Given the description of an element on the screen output the (x, y) to click on. 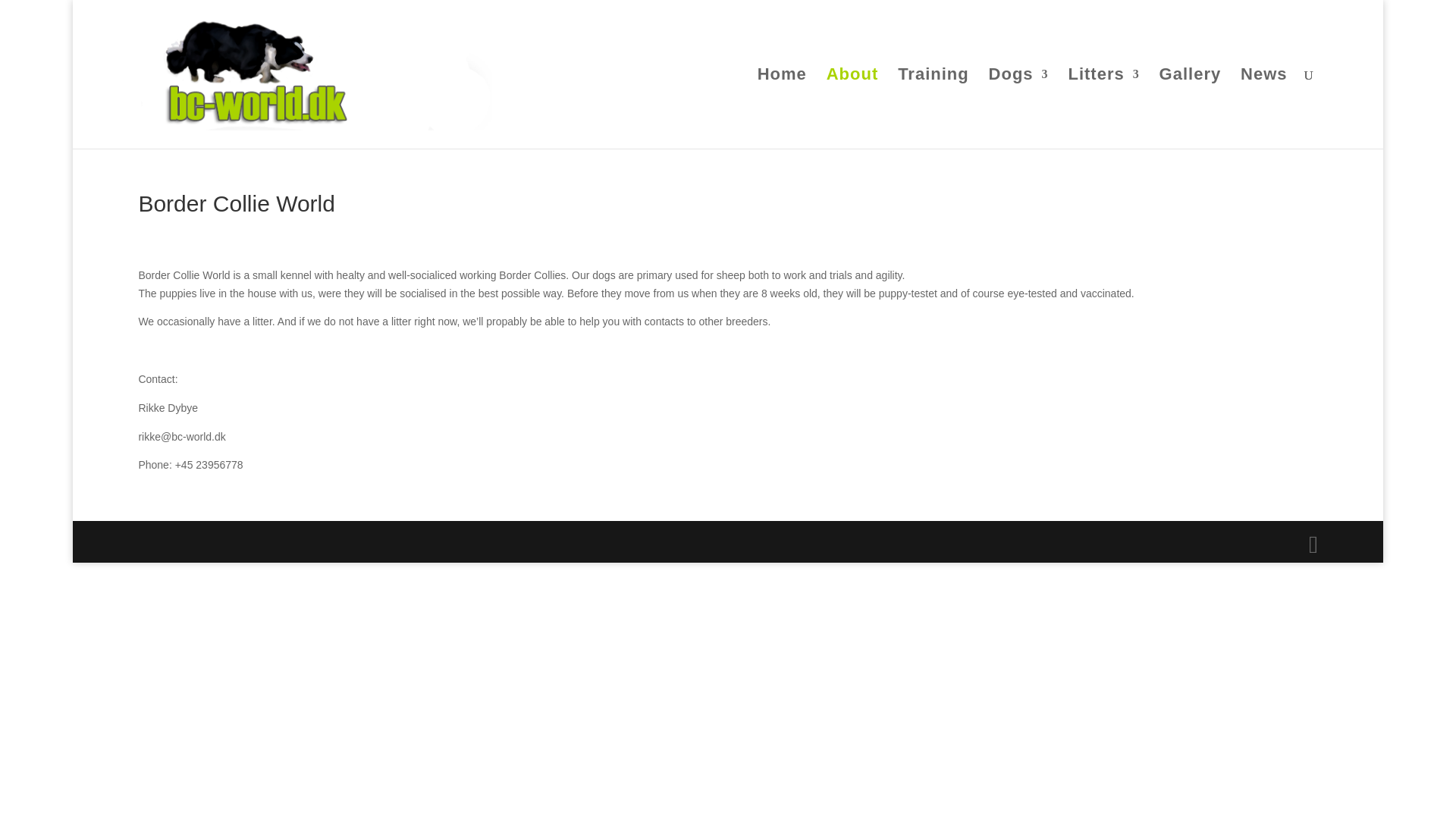
Dogs (1018, 108)
Litters (1102, 108)
Training (933, 108)
About (853, 108)
Home (781, 108)
Gallery (1189, 108)
News (1263, 108)
